Given the description of an element on the screen output the (x, y) to click on. 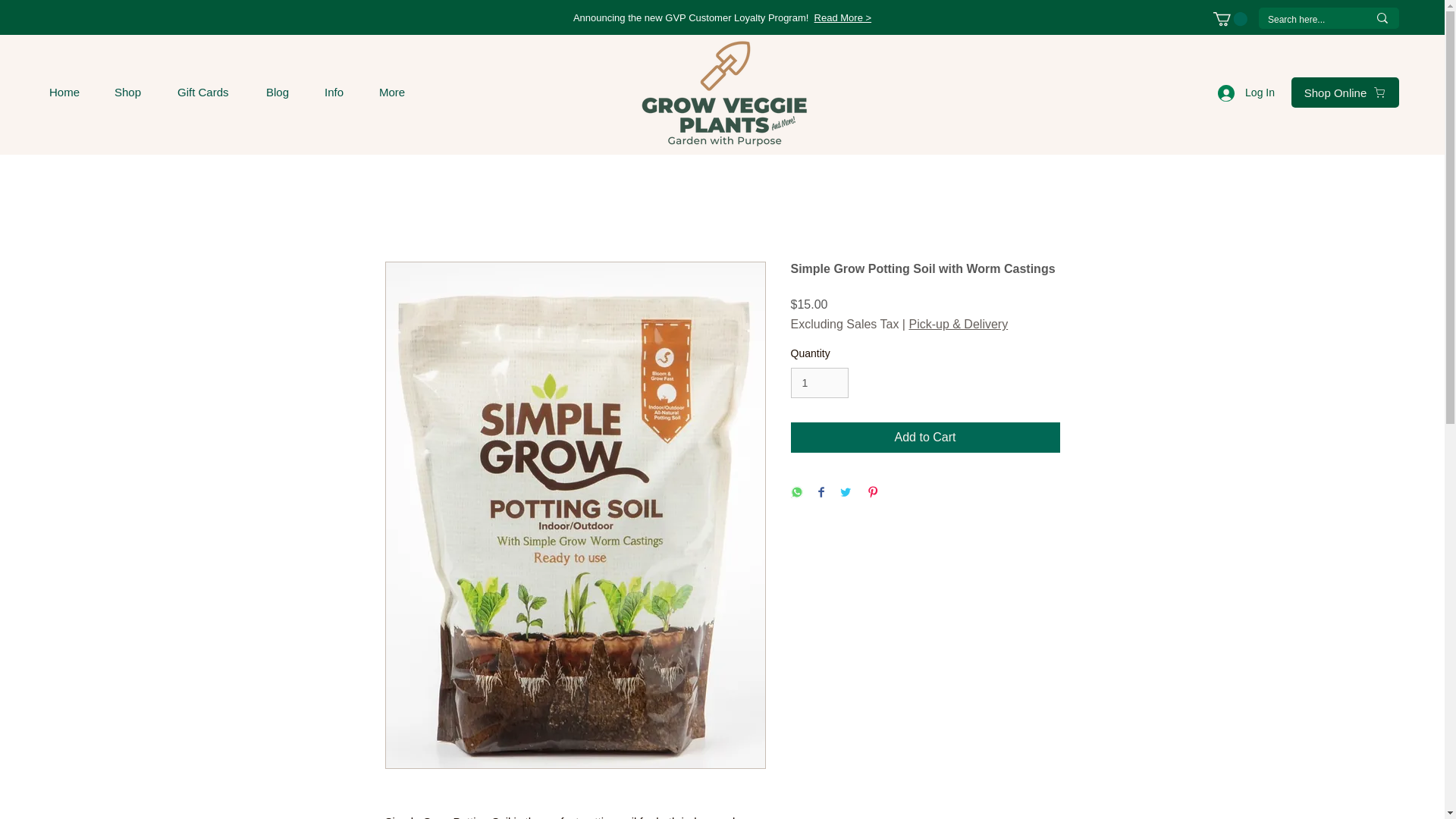
Blog (283, 91)
Gift Cards (209, 91)
Home (69, 91)
1 (818, 382)
Log In (1246, 93)
Shop Online (1345, 91)
Add to Cart (924, 437)
